Given the description of an element on the screen output the (x, y) to click on. 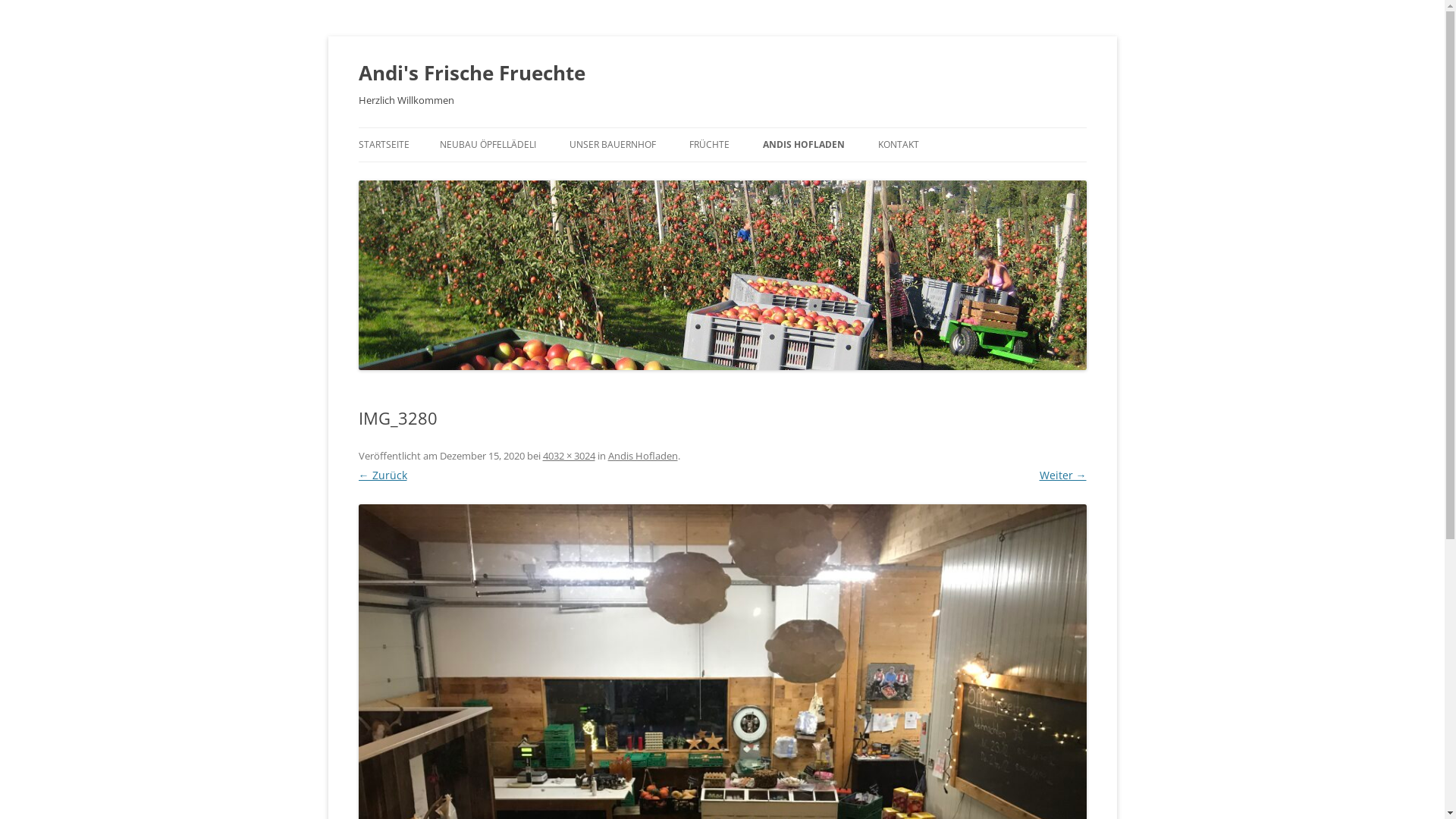
Andi's Frische Fruechte Element type: text (470, 72)
Zum Inhalt springen Element type: text (773, 132)
STARTSEITE Element type: text (382, 144)
KONTAKT Element type: text (898, 144)
ANDIS HOFLADEN Element type: text (803, 144)
UNSER BAUERNHOF Element type: text (611, 144)
Andis Hofladen Element type: text (642, 455)
